Given the description of an element on the screen output the (x, y) to click on. 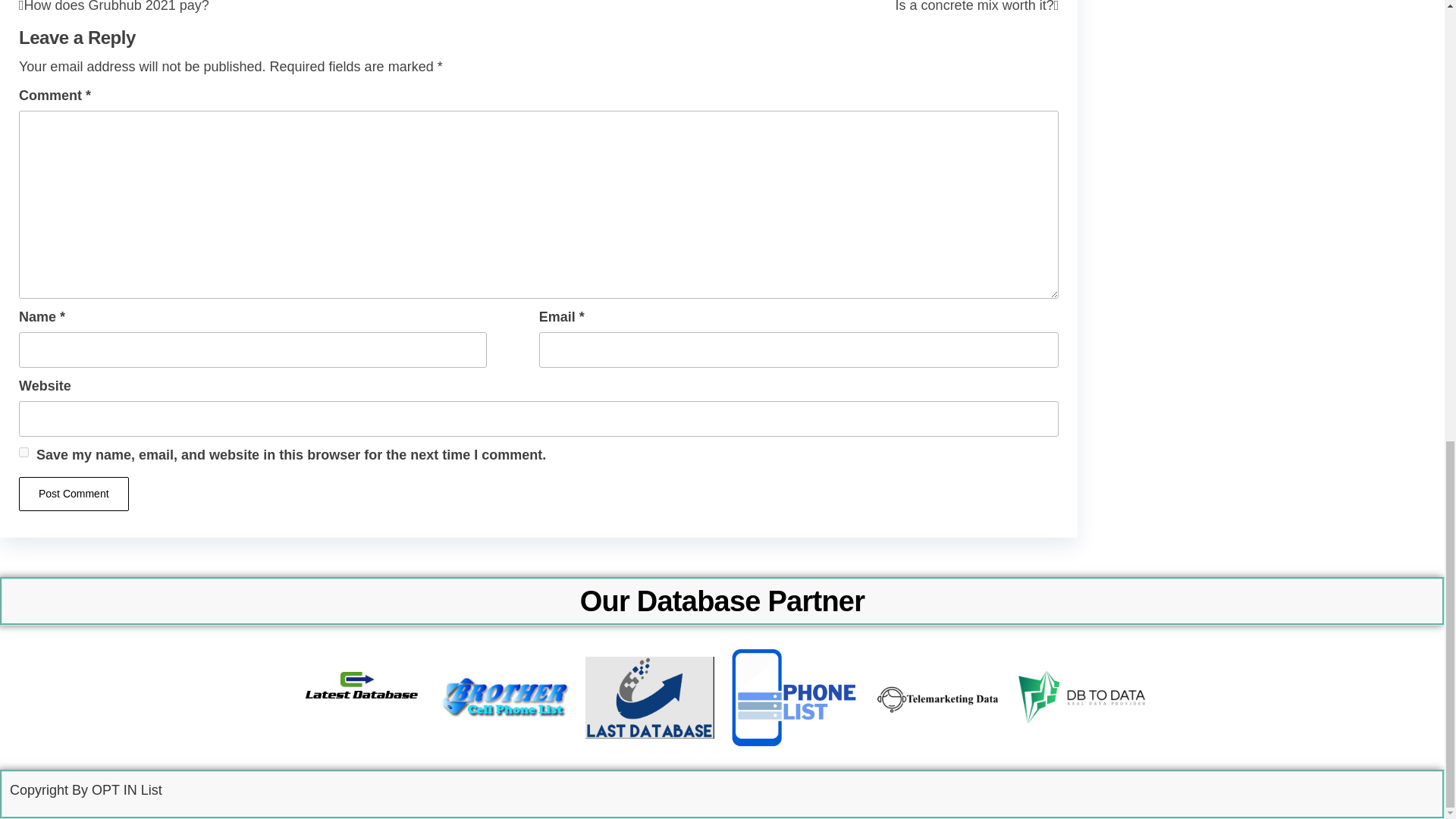
Post Comment (278, 6)
Post Comment (73, 493)
OPT IN List (73, 493)
yes (798, 6)
